Given the description of an element on the screen output the (x, y) to click on. 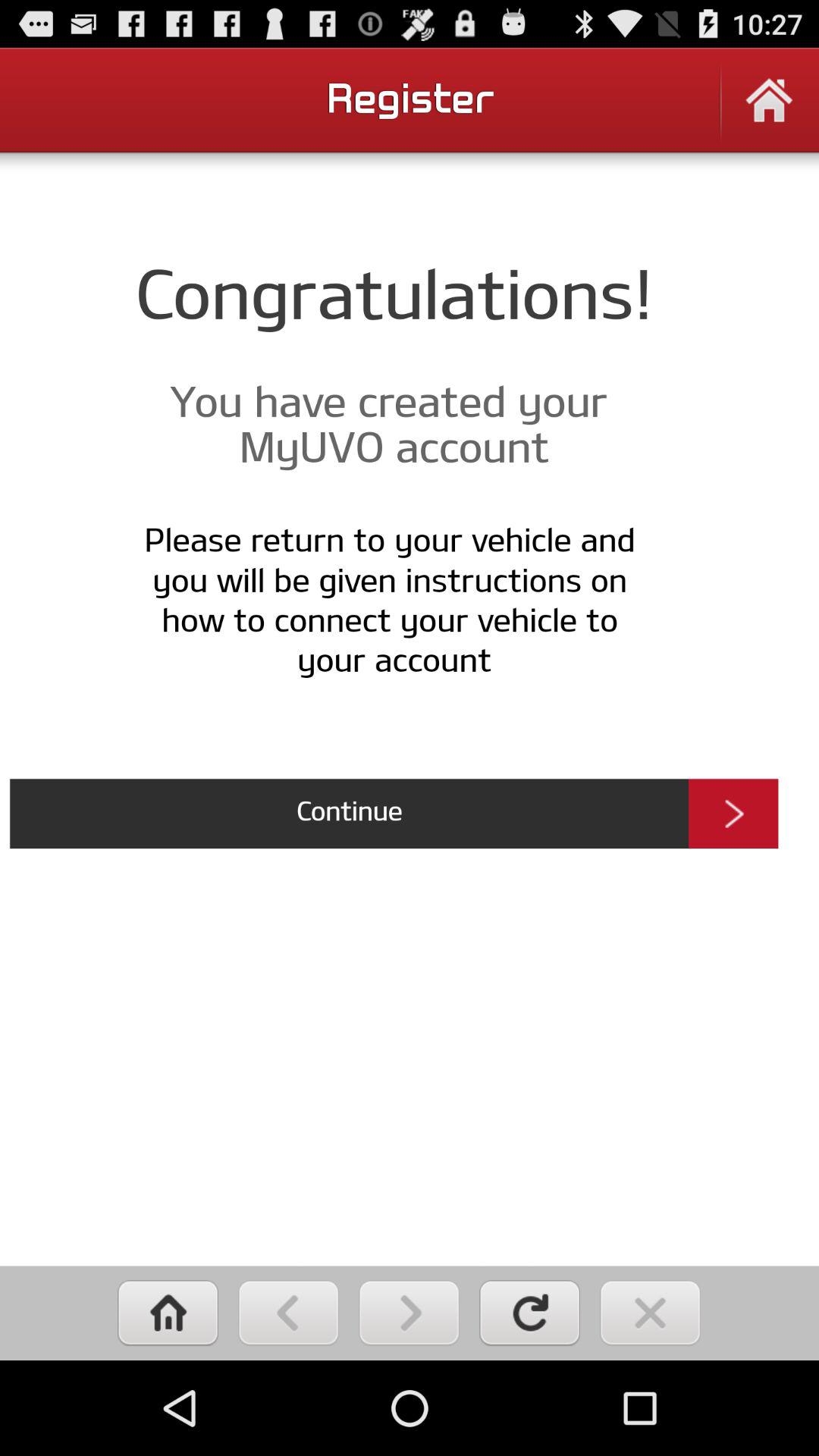
refresh page (529, 1313)
